Given the description of an element on the screen output the (x, y) to click on. 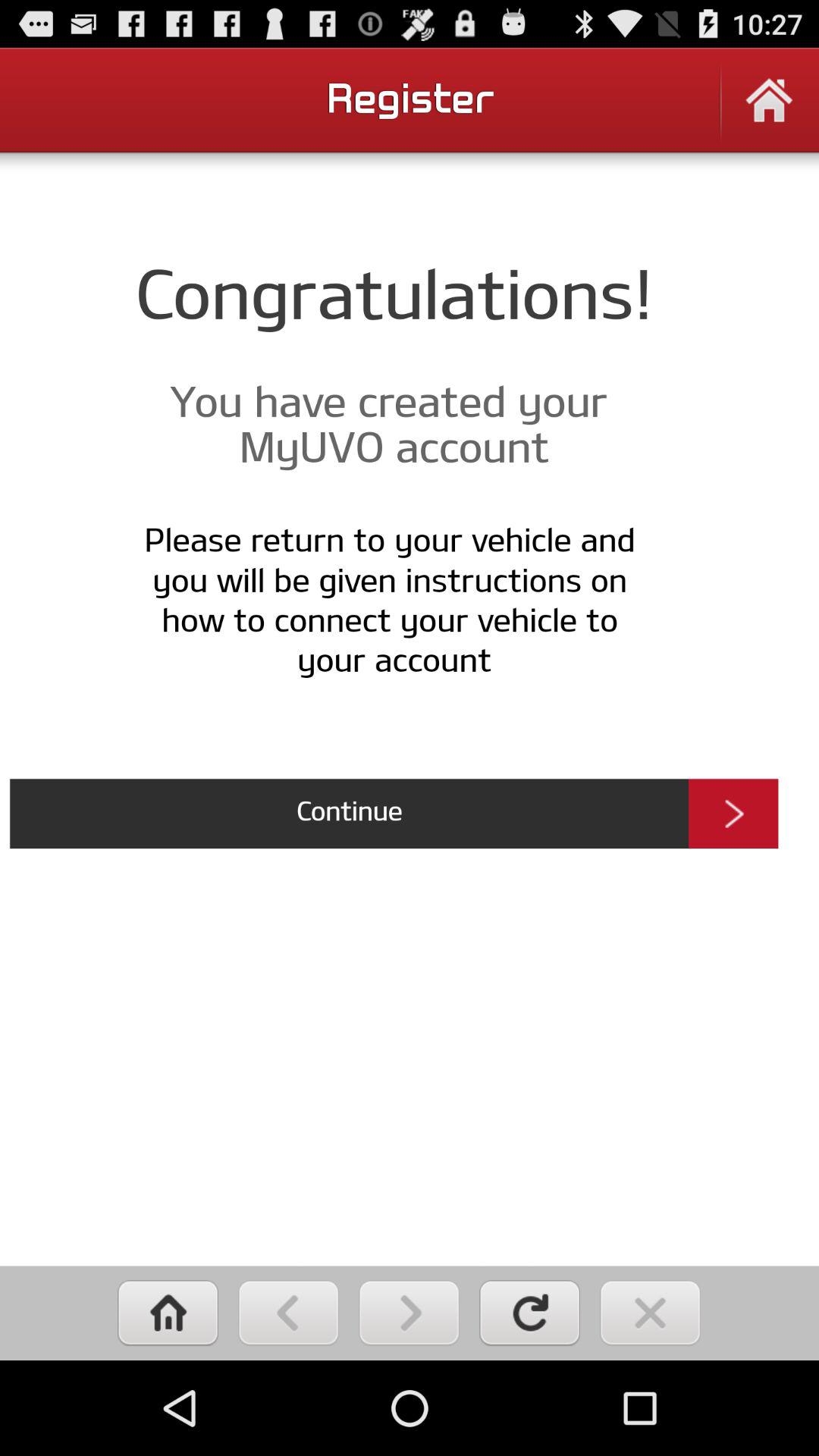
refresh page (529, 1313)
